Given the description of an element on the screen output the (x, y) to click on. 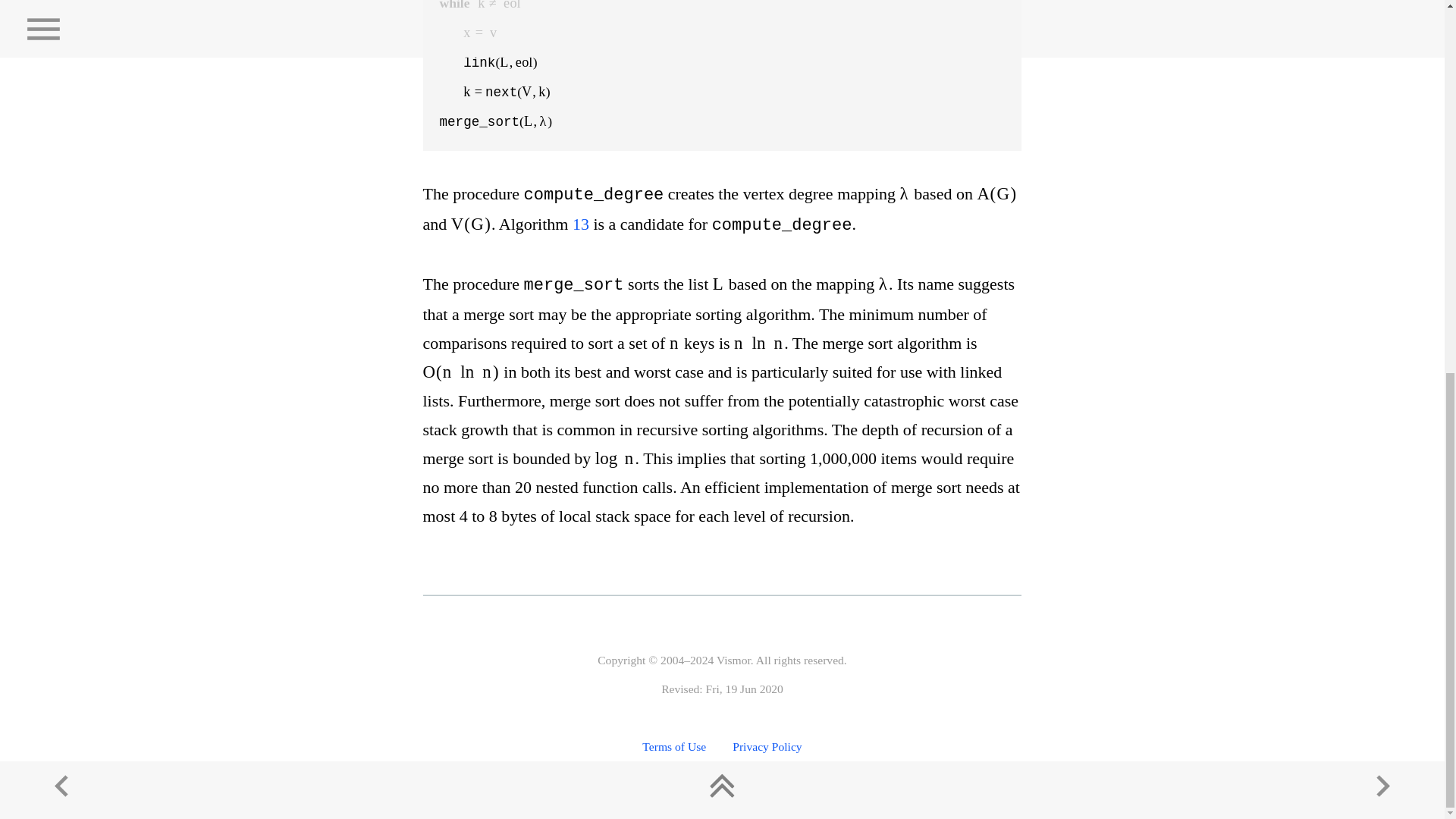
8.4 Maintaining the Reduced Graph (1383, 104)
Terms of Use (674, 746)
8.2 Eliminating Many Vertices (61, 104)
8 Vertex Elimination (722, 101)
